Given the description of an element on the screen output the (x, y) to click on. 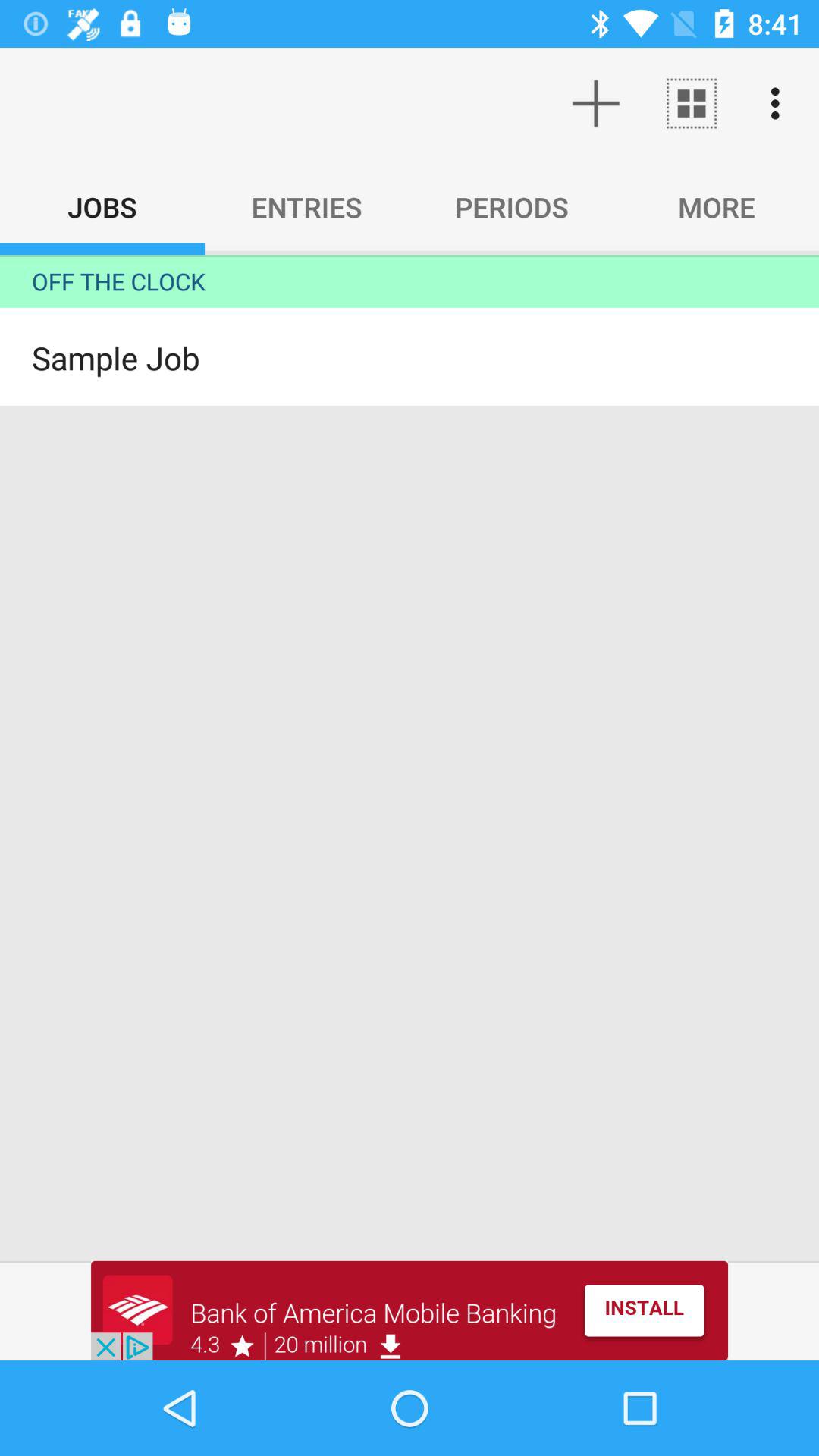
advertisement page (409, 1310)
